Given the description of an element on the screen output the (x, y) to click on. 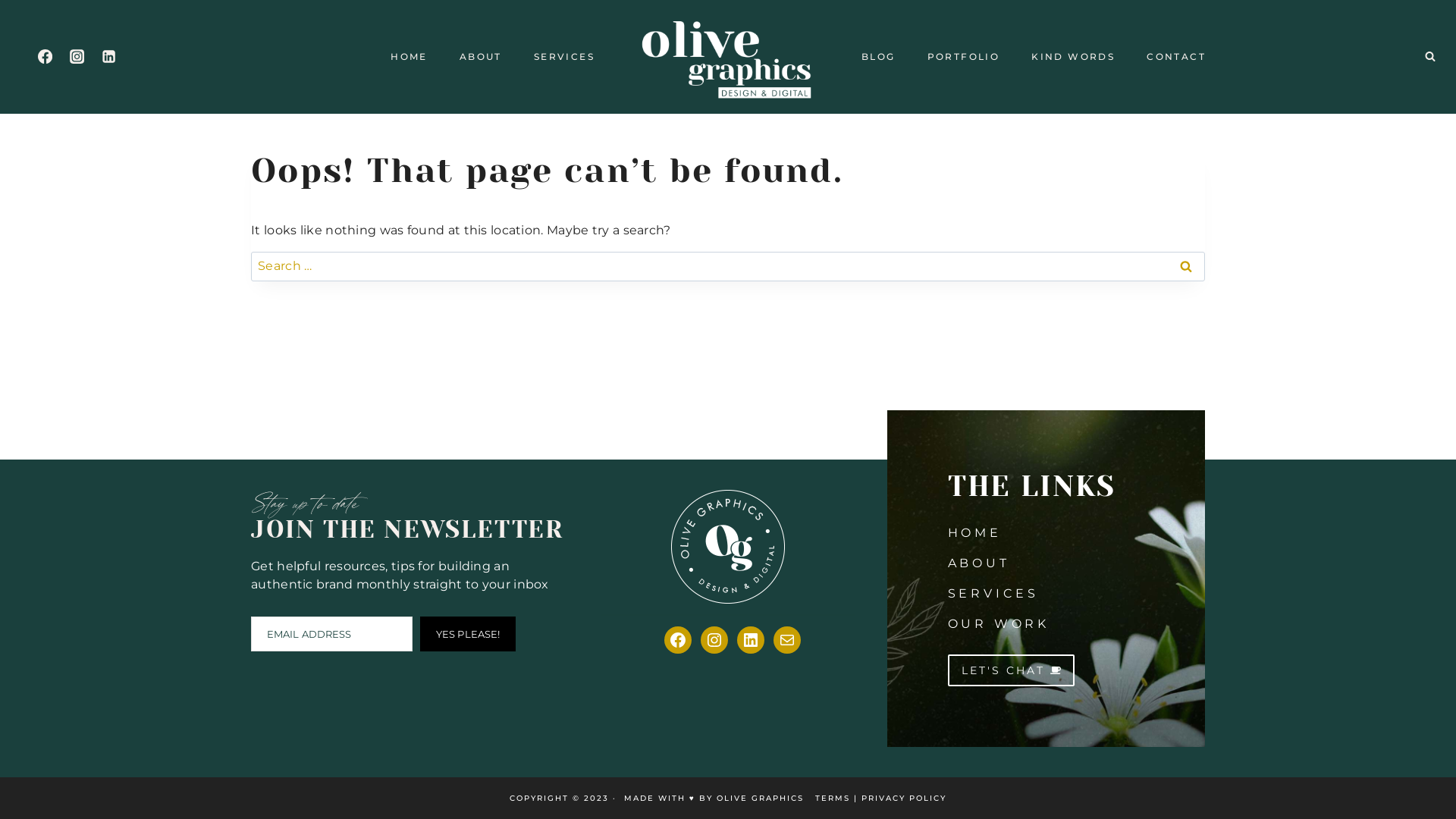
LinkedIn Element type: text (750, 639)
TERMS Element type: text (832, 798)
HOME Element type: text (974, 532)
PRIVACY POLICY Element type: text (903, 798)
KIND WORDS Element type: text (1072, 56)
ABOUT Element type: text (480, 56)
Search Element type: text (1185, 266)
CONTACT Element type: text (1175, 56)
SERVICES Element type: text (992, 593)
BLOG Element type: text (878, 56)
SERVICES Element type: text (563, 56)
LET'S CHAT Element type: text (1010, 670)
Instagram Element type: text (714, 639)
Mail Element type: text (786, 639)
OUR WORK Element type: text (998, 623)
HOME Element type: text (408, 56)
PORTFOLIO Element type: text (963, 56)
YES PLEASE! Element type: text (467, 633)
Facebook Element type: text (677, 639)
ABOUT Element type: text (978, 562)
